Given the description of an element on the screen output the (x, y) to click on. 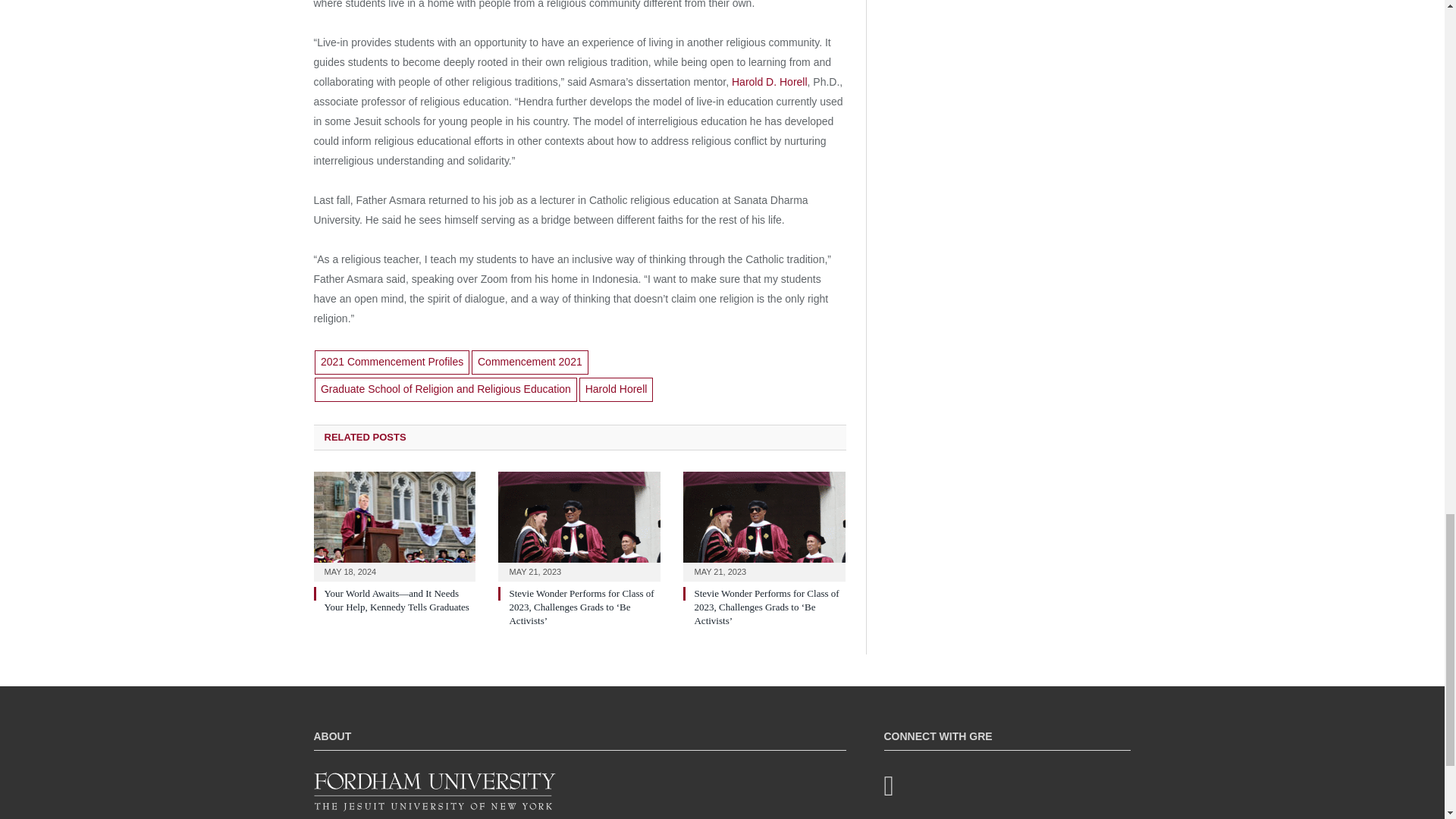
2021 Commencement Profiles (391, 362)
Commencement 2021 (529, 362)
Graduate School of Religion and Religious Education (445, 389)
Harold D. Horell (770, 81)
Harold Horell (616, 389)
